Given the description of an element on the screen output the (x, y) to click on. 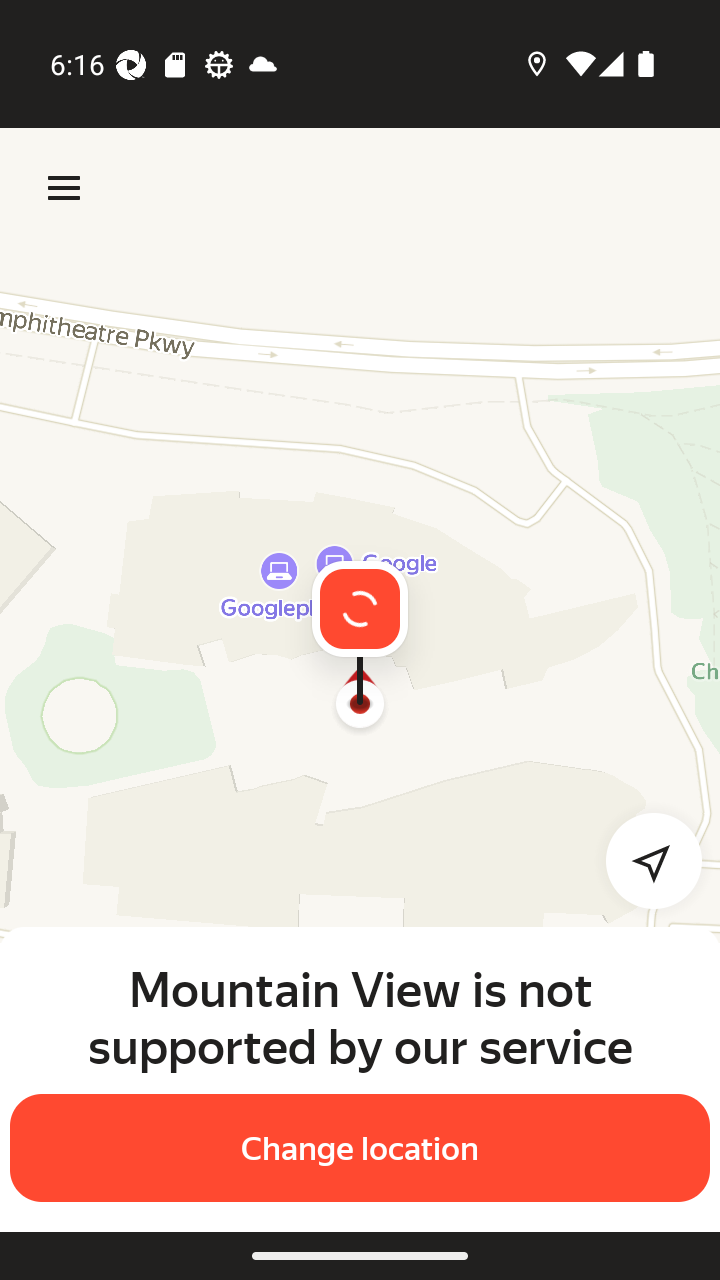
Menu Menu Menu (64, 188)
Detect my location (641, 860)
Mountain View is not supported by our service (360, 1017)
Change location (359, 1147)
